Given the description of an element on the screen output the (x, y) to click on. 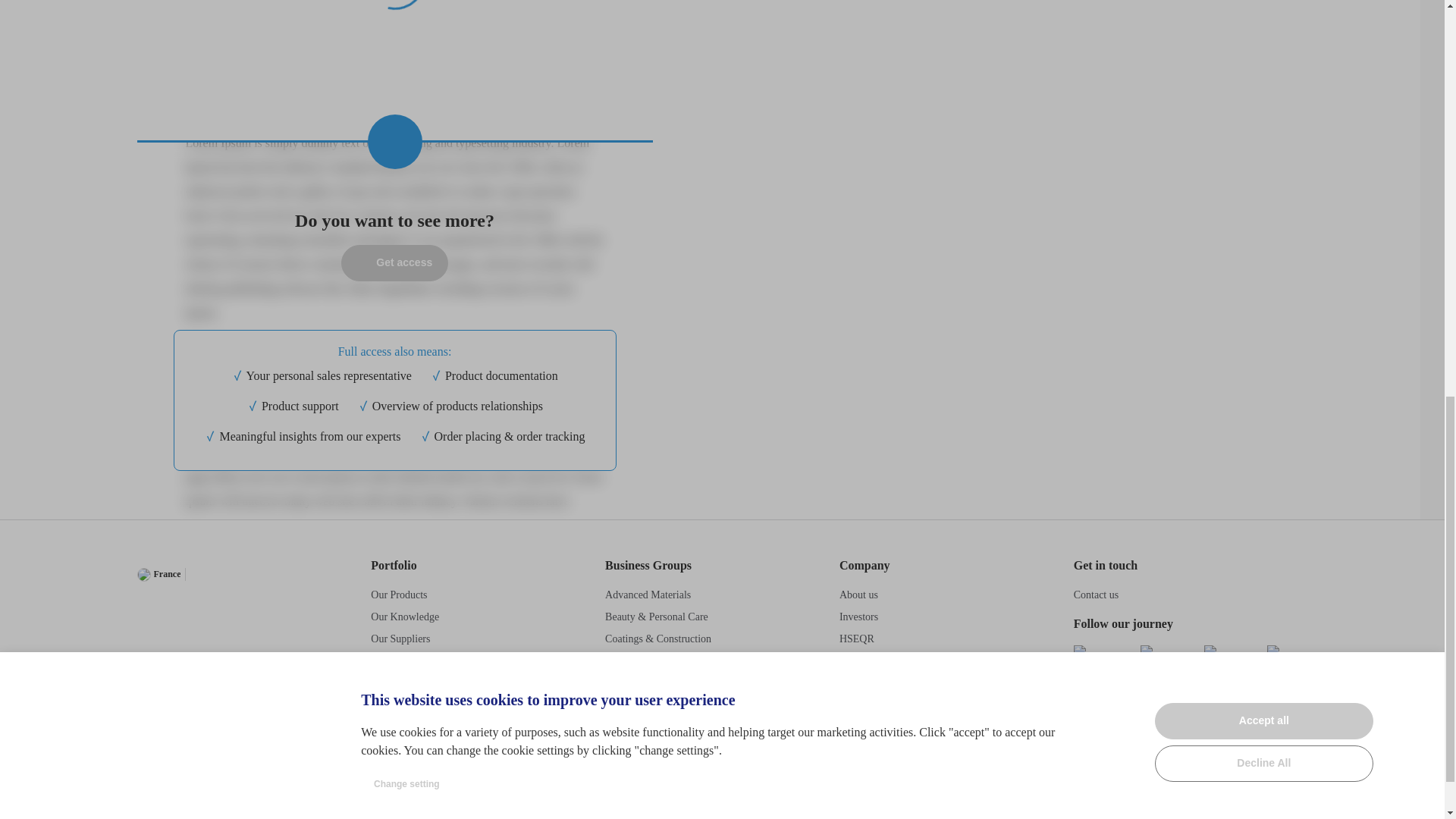
Open Dropdown (225, 574)
Get access (394, 262)
Our Products (398, 594)
France (158, 573)
Advanced Materials (647, 594)
Our Knowledge (405, 616)
Our Suppliers (400, 638)
